Given the description of an element on the screen output the (x, y) to click on. 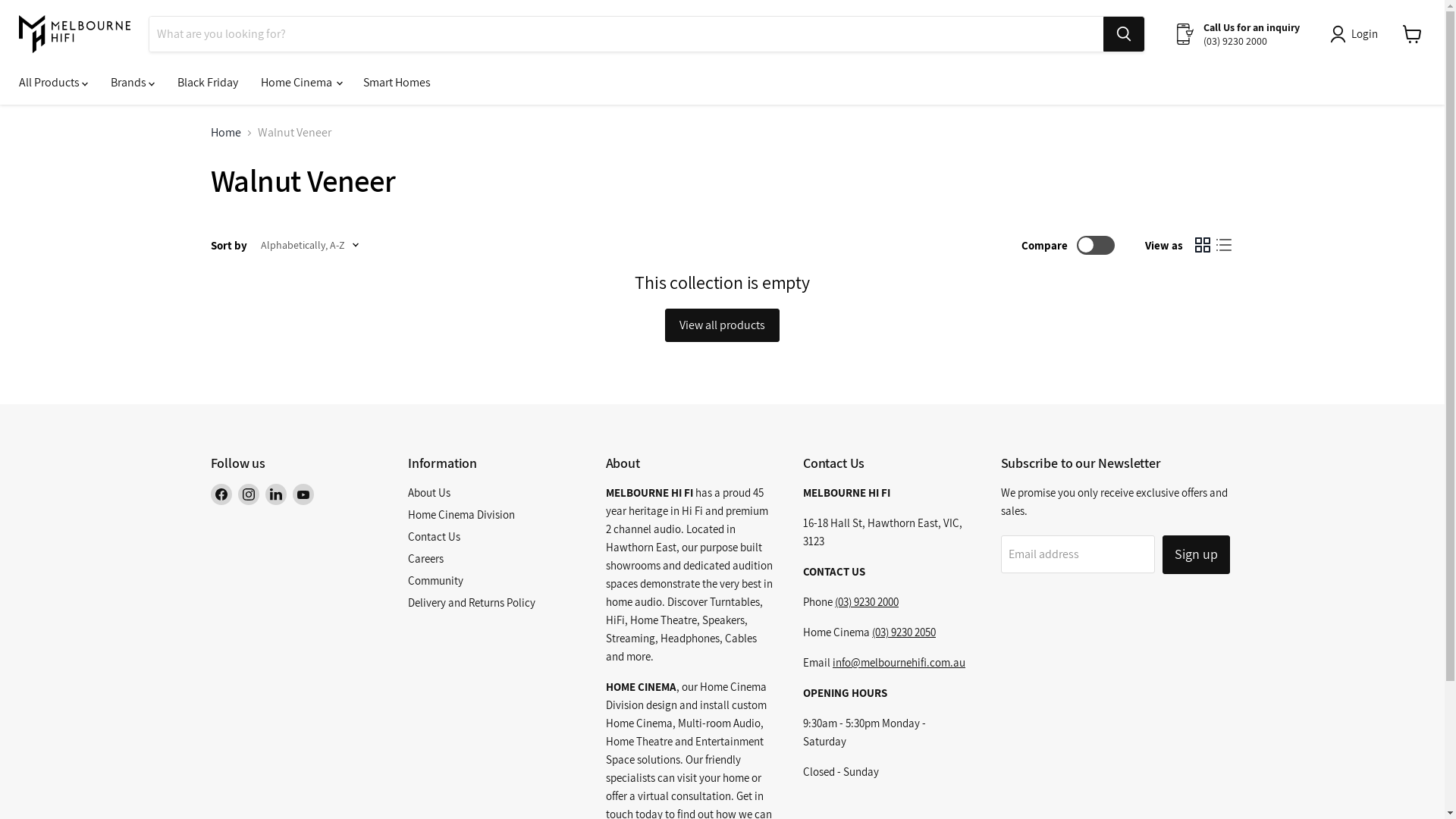
Black Friday Element type: text (207, 82)
Find us on Facebook Element type: text (221, 494)
About Us Element type: text (428, 492)
Sign up Element type: text (1196, 554)
Delivery and Returns Policy Element type: text (471, 602)
Contact Us Element type: text (433, 536)
Find us on Instagram Element type: text (248, 494)
Find us on LinkedIn Element type: text (275, 494)
Login Element type: text (1356, 34)
View all products Element type: text (722, 325)
(03) 9230 2050 Element type: text (903, 631)
info@melbournehifi.com.au Element type: text (898, 662)
Careers Element type: text (425, 558)
Home Element type: text (225, 132)
Home Cinema Division Element type: text (460, 514)
Find us on YouTube Element type: text (302, 494)
View cart Element type: text (1412, 33)
Community Element type: text (435, 580)
Smart Homes Element type: text (396, 82)
(03) 9230 2000 Element type: text (866, 601)
